Given the description of an element on the screen output the (x, y) to click on. 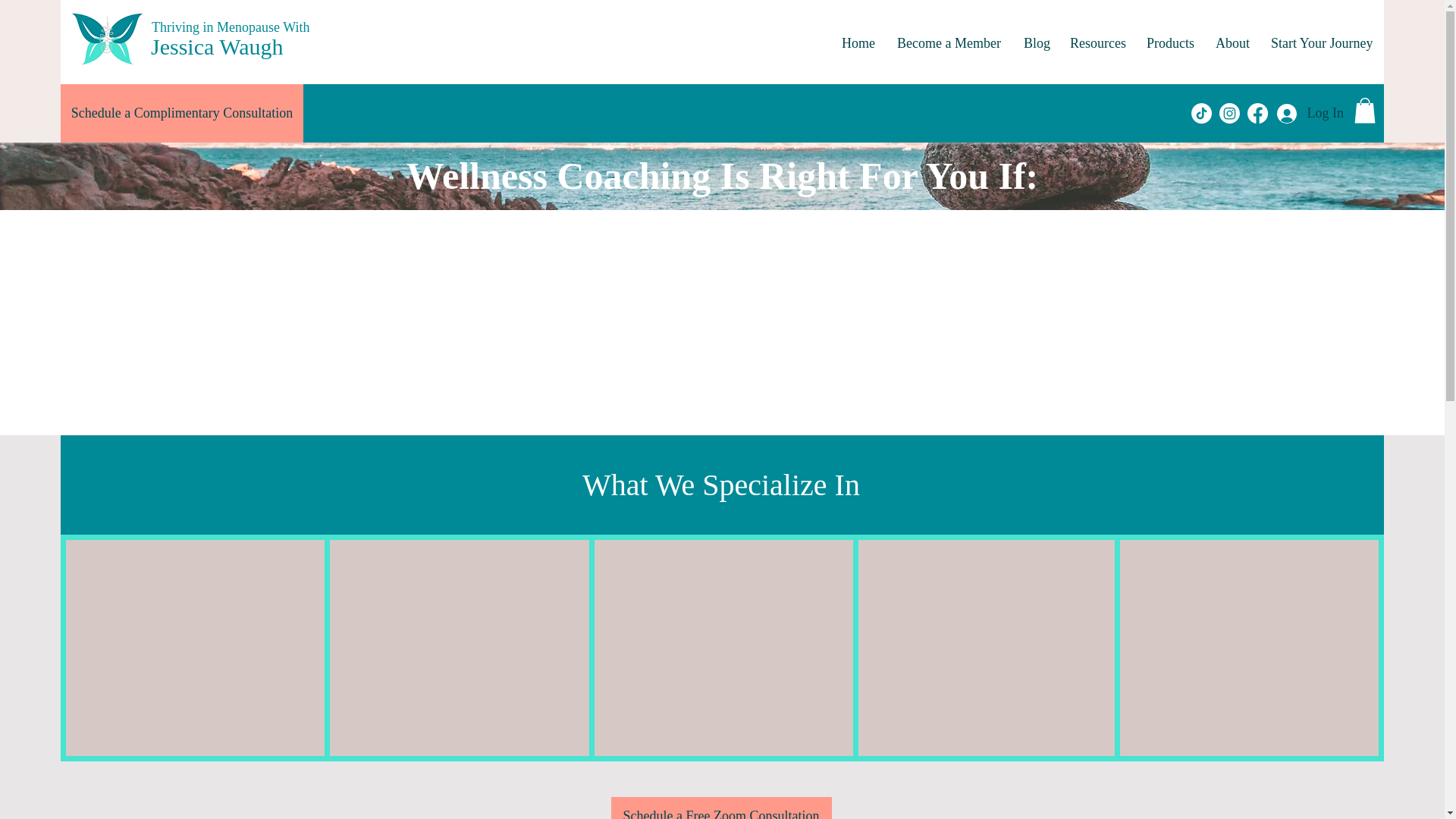
Resources (1096, 43)
Schedule a Complimentary Consultation (181, 113)
About (1231, 43)
Home (857, 43)
Log In (1310, 112)
Products (1169, 43)
Thriving in Menopause With (229, 27)
Become a Member (948, 43)
Blog (1034, 43)
Schedule a Free Zoom Consultation (721, 807)
